Given the description of an element on the screen output the (x, y) to click on. 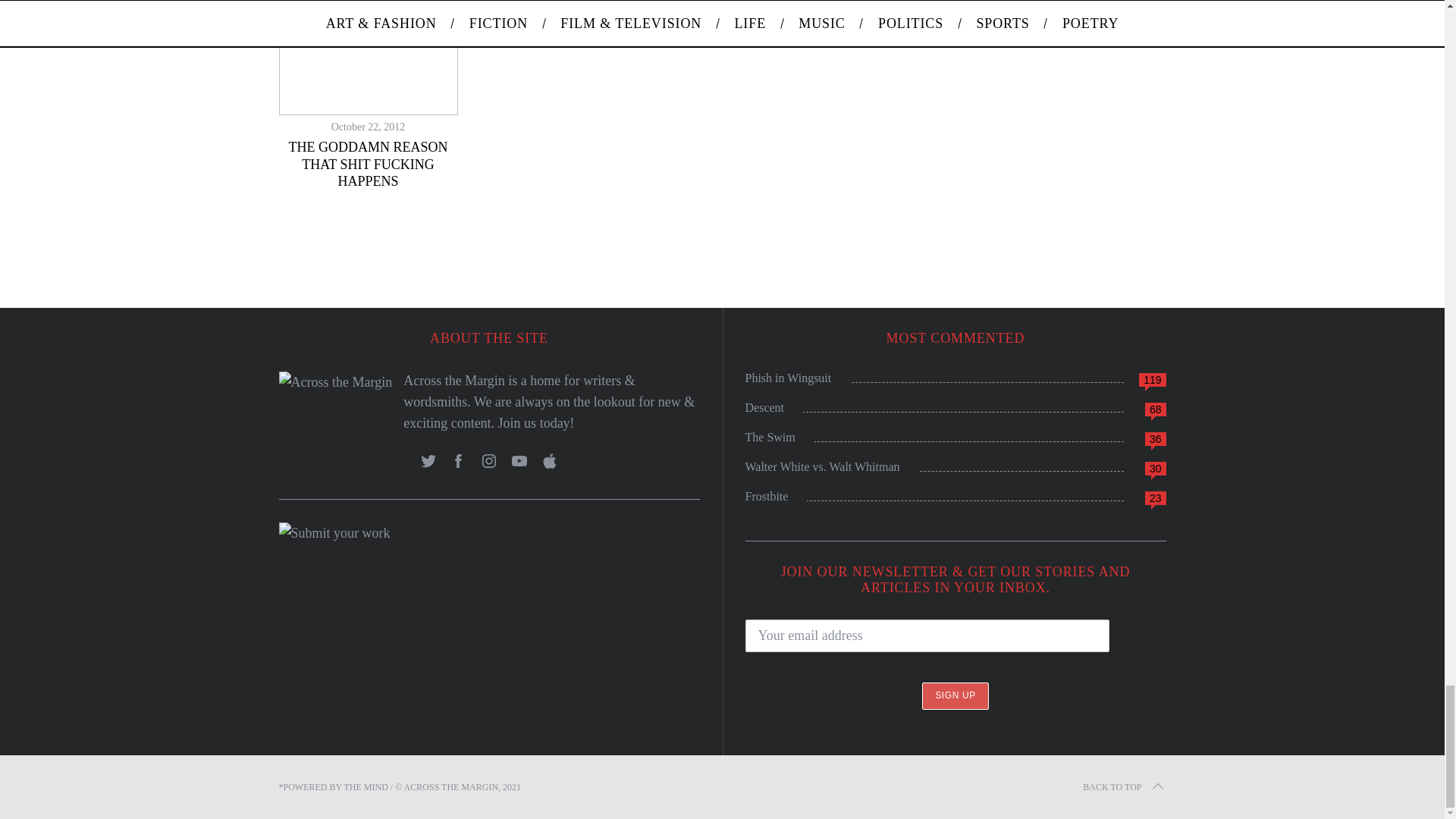
Sign up (954, 695)
